Given the description of an element on the screen output the (x, y) to click on. 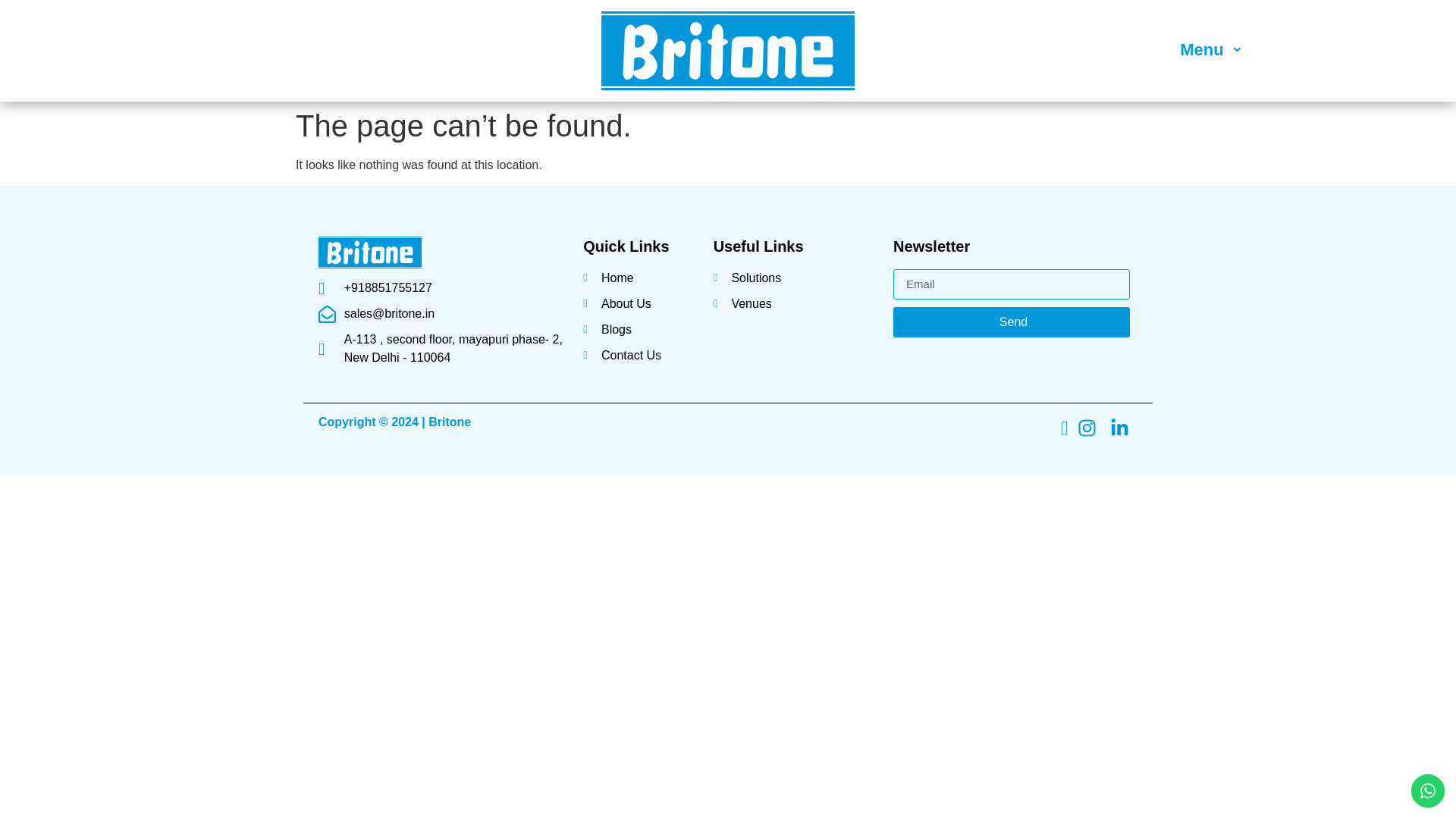
Solutions (795, 278)
About Us (640, 303)
Send (1011, 322)
Menu (1213, 50)
Venues (795, 303)
Home (640, 278)
Contact Us (640, 355)
Blogs (640, 330)
